Given the description of an element on the screen output the (x, y) to click on. 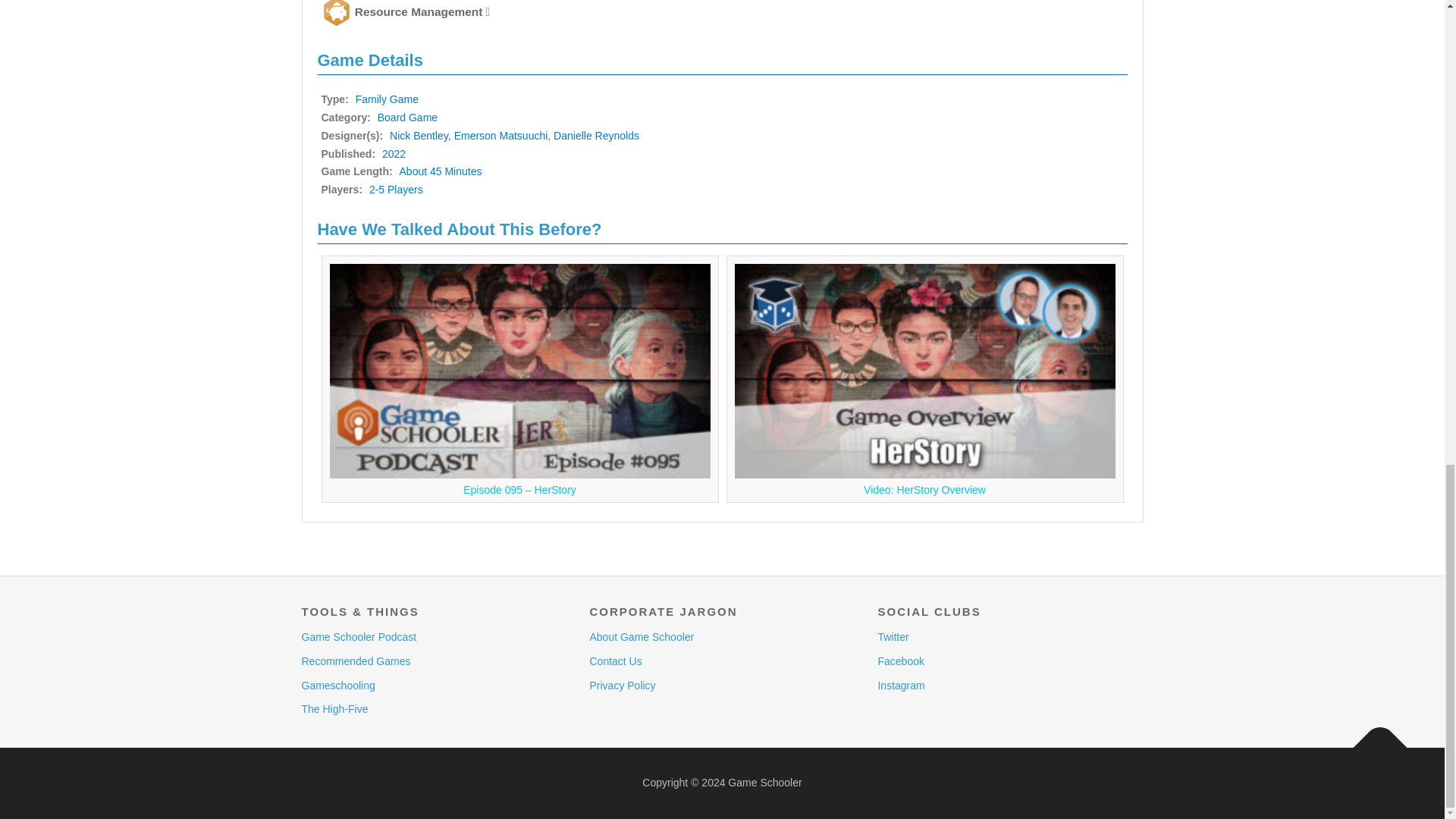
Game Schooler Podcast (358, 636)
Back To Top (1372, 740)
About Game Schooler (641, 636)
Contact Us (615, 661)
Recommended Games (355, 661)
Gameschooling (338, 685)
Privacy Policy (622, 685)
The High-Five (334, 708)
Twitter (892, 636)
Instagram (900, 685)
